Given the description of an element on the screen output the (x, y) to click on. 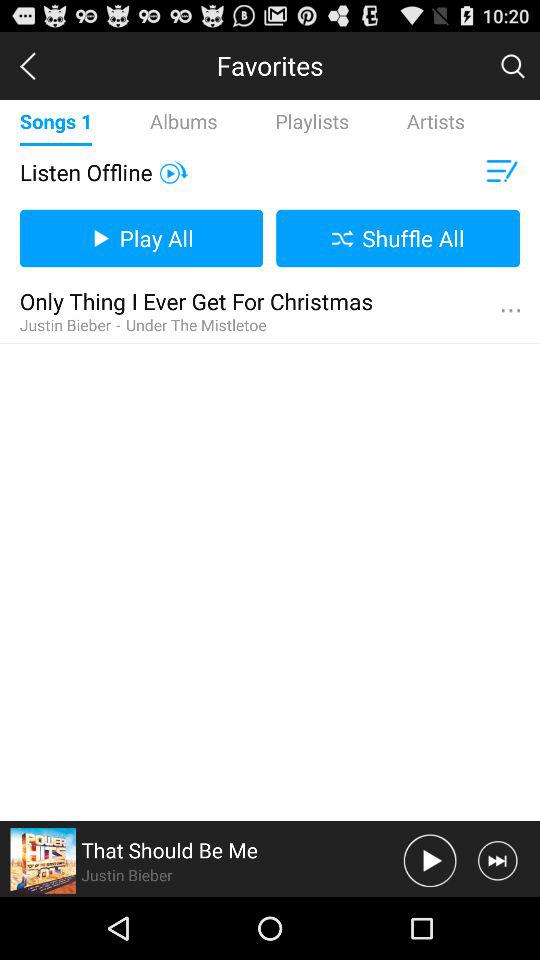
search the favorites list (512, 65)
